Given the description of an element on the screen output the (x, y) to click on. 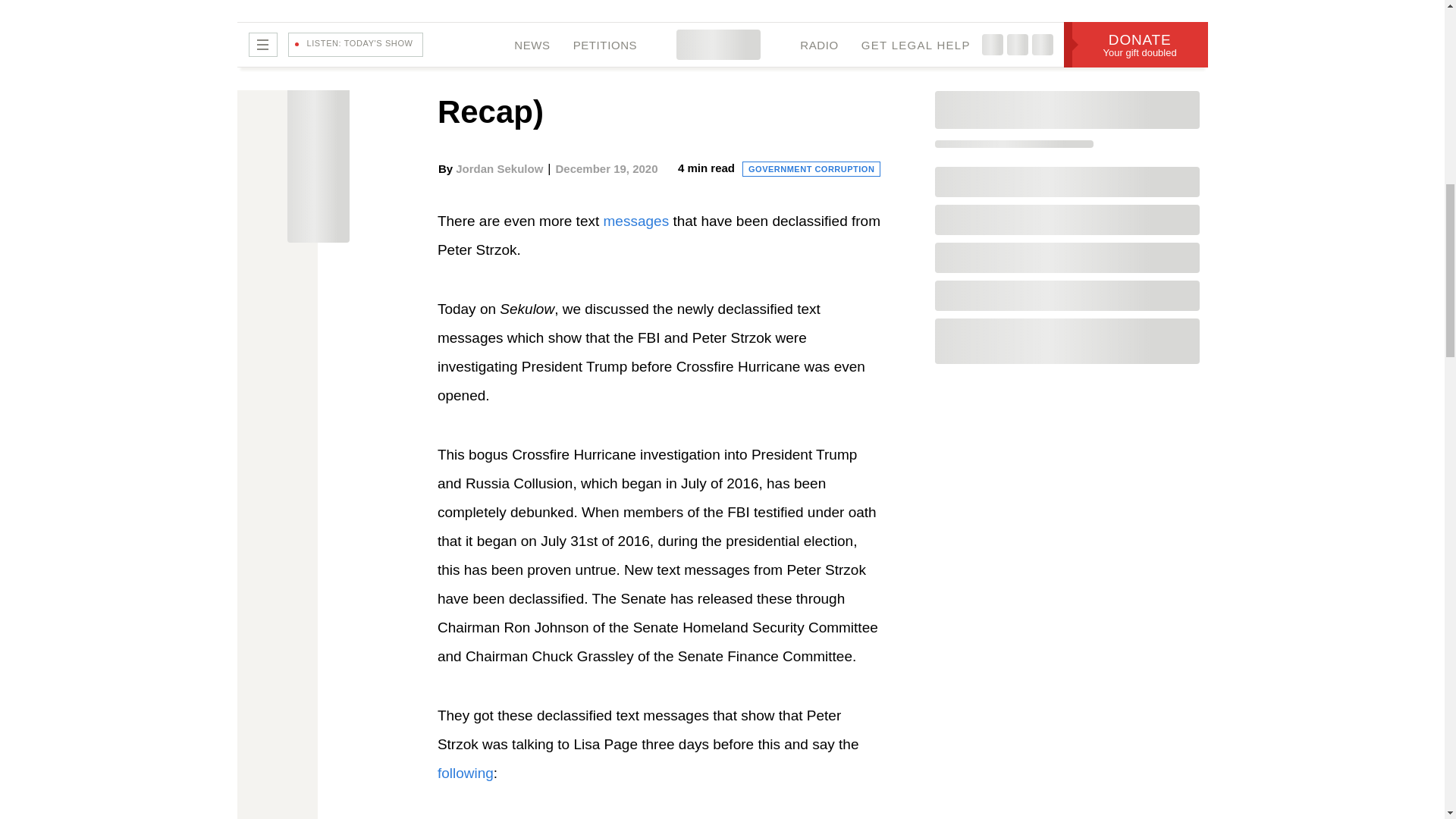
following (465, 772)
Jordan Sekulow (499, 168)
GOVERNMENT CORRUPTION (811, 168)
messages (636, 220)
